Given the description of an element on the screen output the (x, y) to click on. 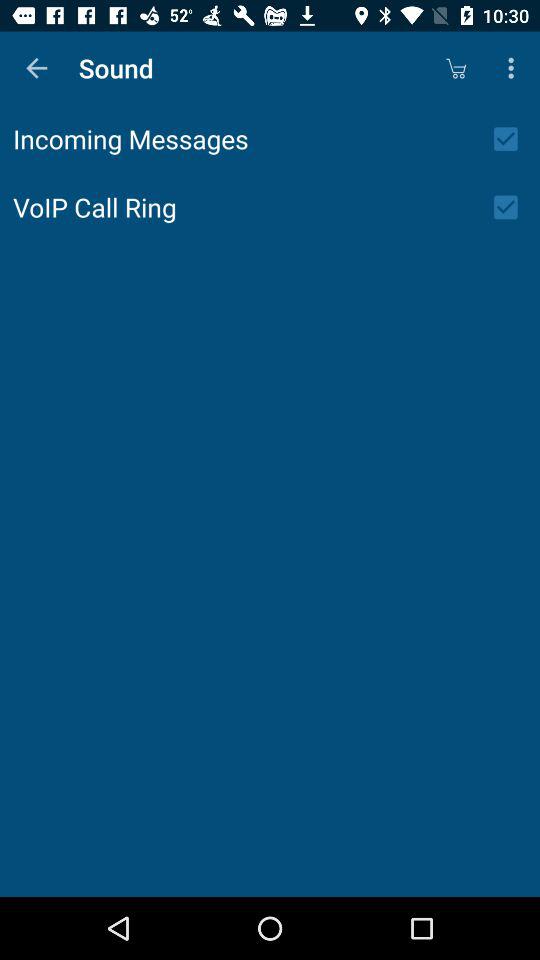
uncheck box (512, 139)
